Given the description of an element on the screen output the (x, y) to click on. 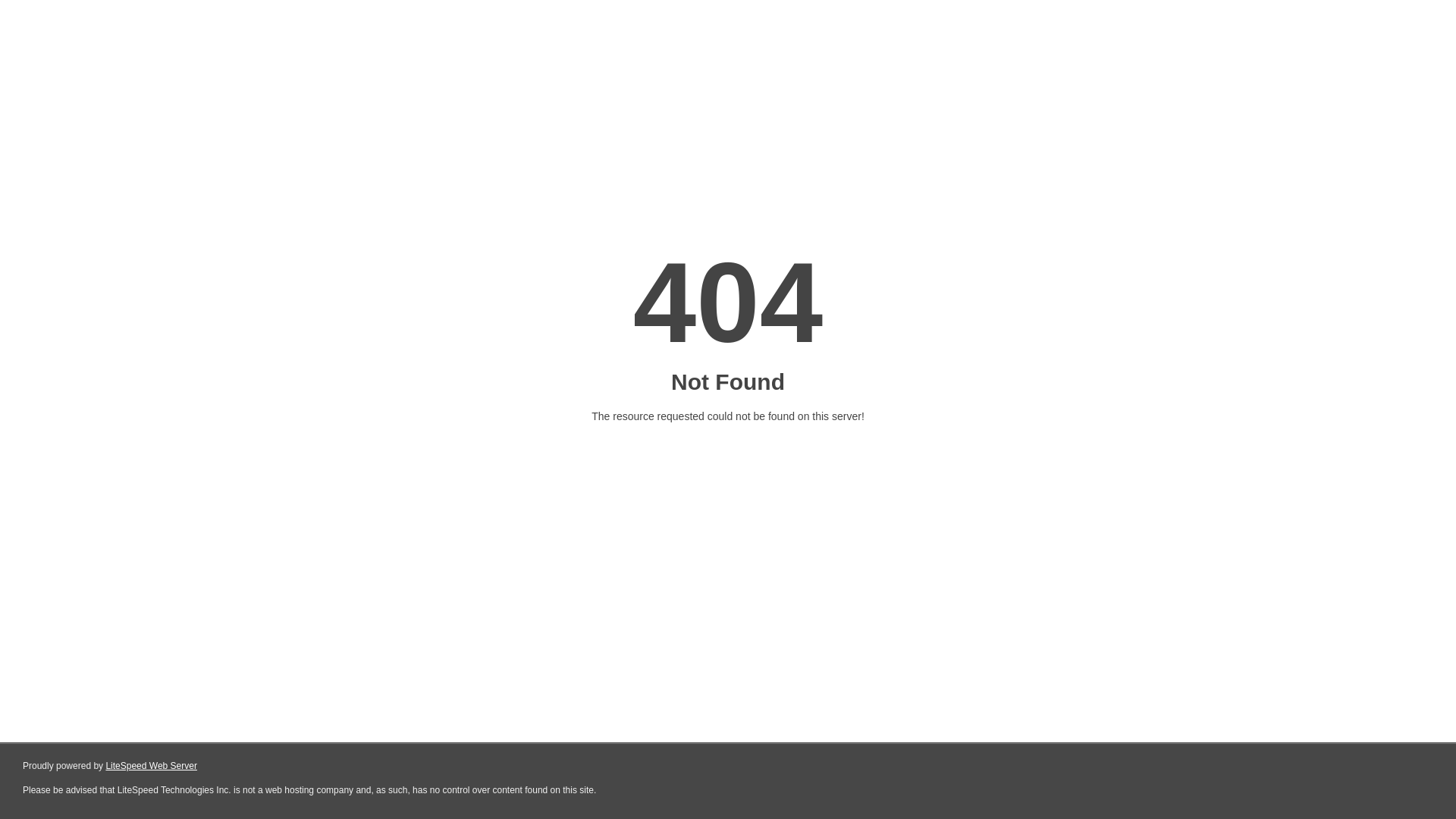
LiteSpeed Web Server Element type: text (151, 765)
